Given the description of an element on the screen output the (x, y) to click on. 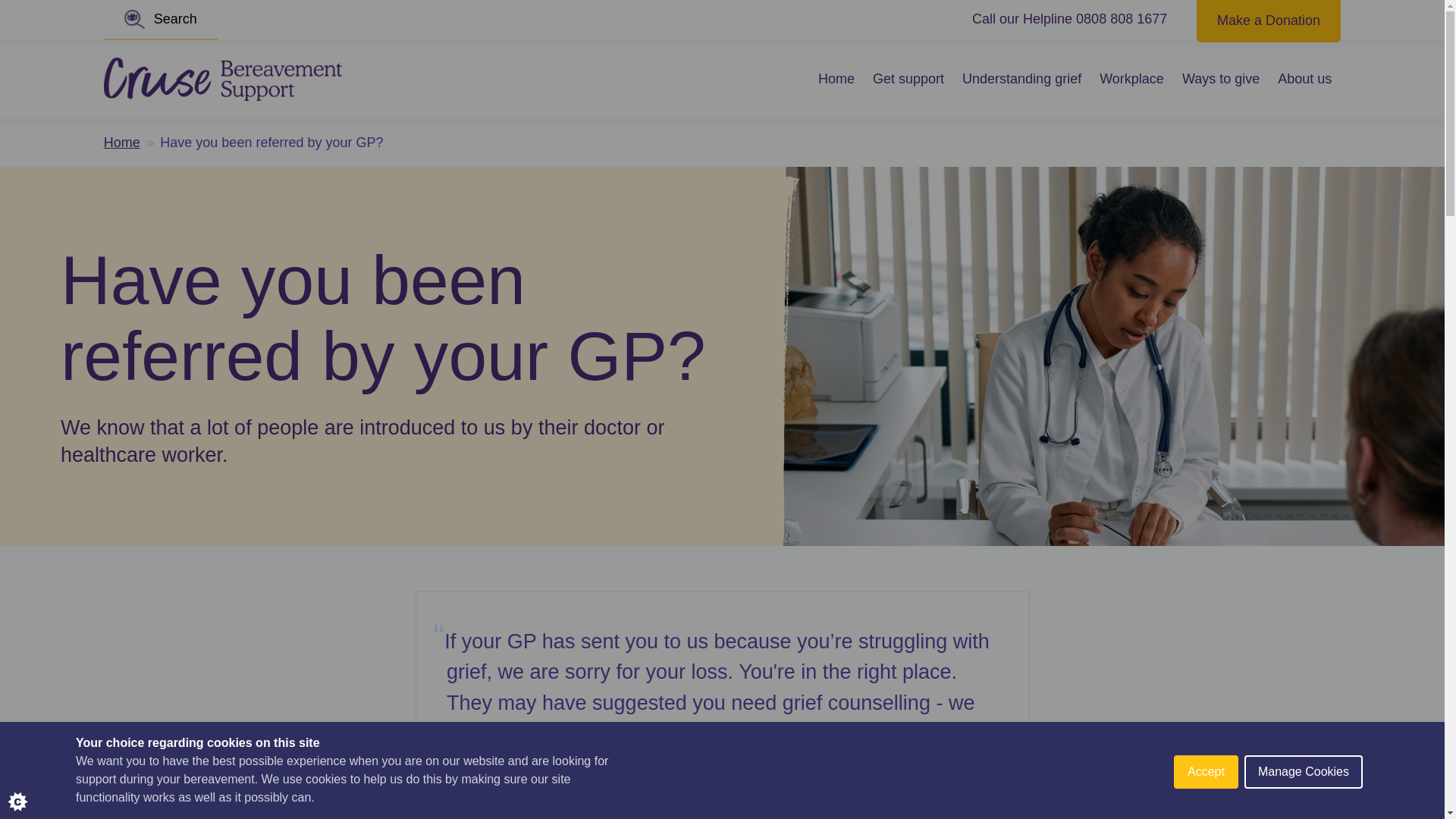
Manage Cookies (1303, 807)
Ways to give (1220, 78)
Search (159, 19)
About us (1304, 78)
Home (121, 142)
Get support (908, 78)
Understanding grief (1021, 78)
Make a Donation (1268, 19)
Call our Helpline 0808 808 1677 (1070, 19)
Accept (1206, 816)
Workplace (1131, 78)
